Given the description of an element on the screen output the (x, y) to click on. 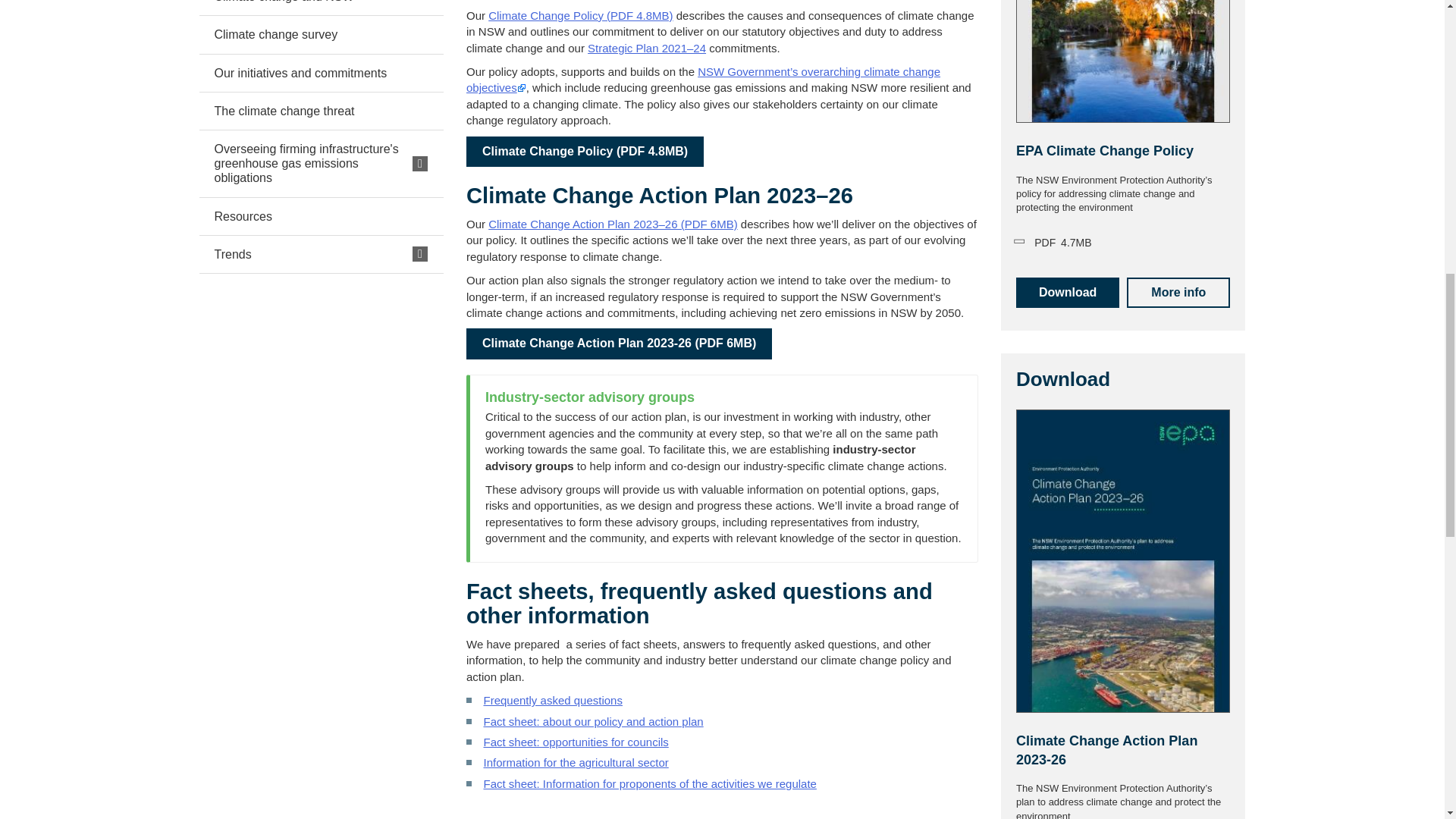
PDF cover (1123, 61)
